Given the description of an element on the screen output the (x, y) to click on. 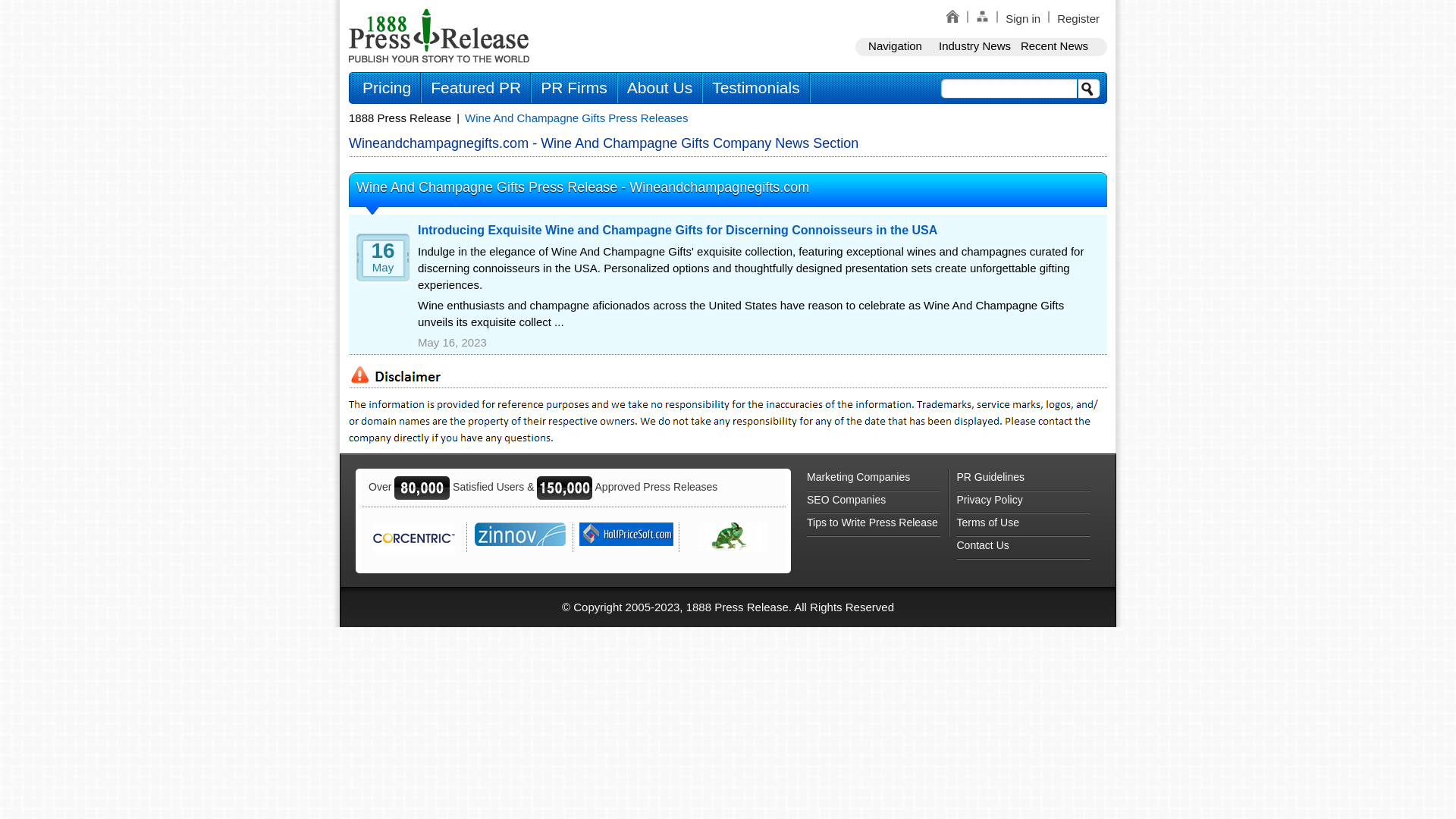
Contact Us Element type: text (1023, 547)
Featured PR Element type: text (475, 87)
Pricing Element type: text (386, 87)
Privacy Policy Element type: text (1023, 502)
PR Guidelines Element type: text (1023, 479)
PR Firms Element type: text (573, 87)
Testimonials Element type: text (755, 87)
Industry News Element type: text (974, 45)
Tips to Write Press Release Element type: text (873, 525)
SEO Companies Element type: text (873, 502)
Register Element type: text (1078, 18)
1888 Press Release Element type: text (399, 117)
1888PressRelease.com Element type: text (438, 34)
Navigation Element type: text (895, 45)
16
May Element type: text (378, 262)
Recent News Element type: text (1054, 45)
Sign in Element type: text (1022, 18)
About Us Element type: text (659, 87)
Terms of Use Element type: text (1023, 525)
Marketing Companies Element type: text (873, 479)
